Given the description of an element on the screen output the (x, y) to click on. 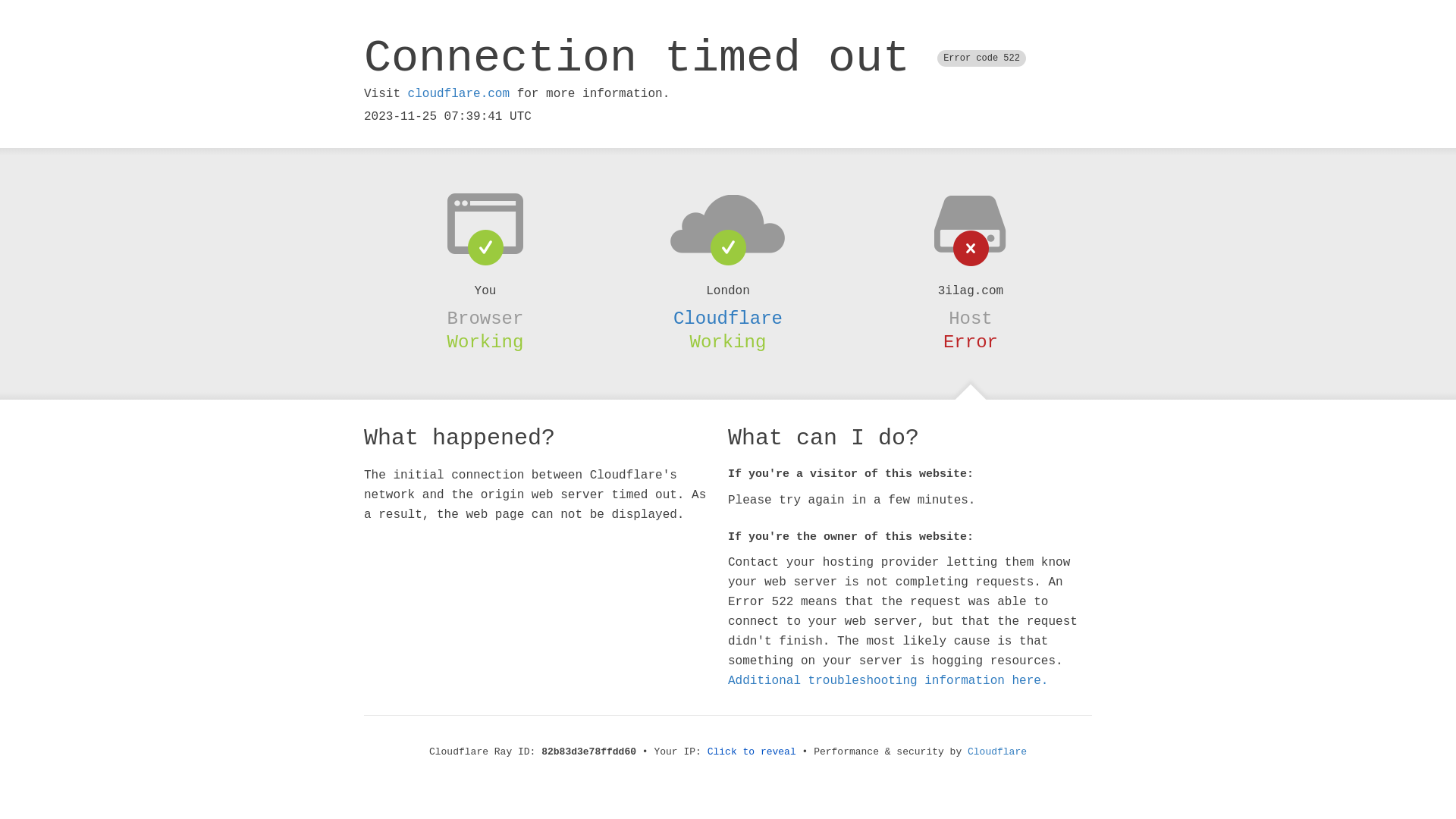
Additional troubleshooting information here. Element type: text (888, 680)
cloudflare.com Element type: text (458, 93)
Cloudflare Element type: text (727, 318)
Click to reveal Element type: text (751, 751)
Cloudflare Element type: text (996, 751)
